Given the description of an element on the screen output the (x, y) to click on. 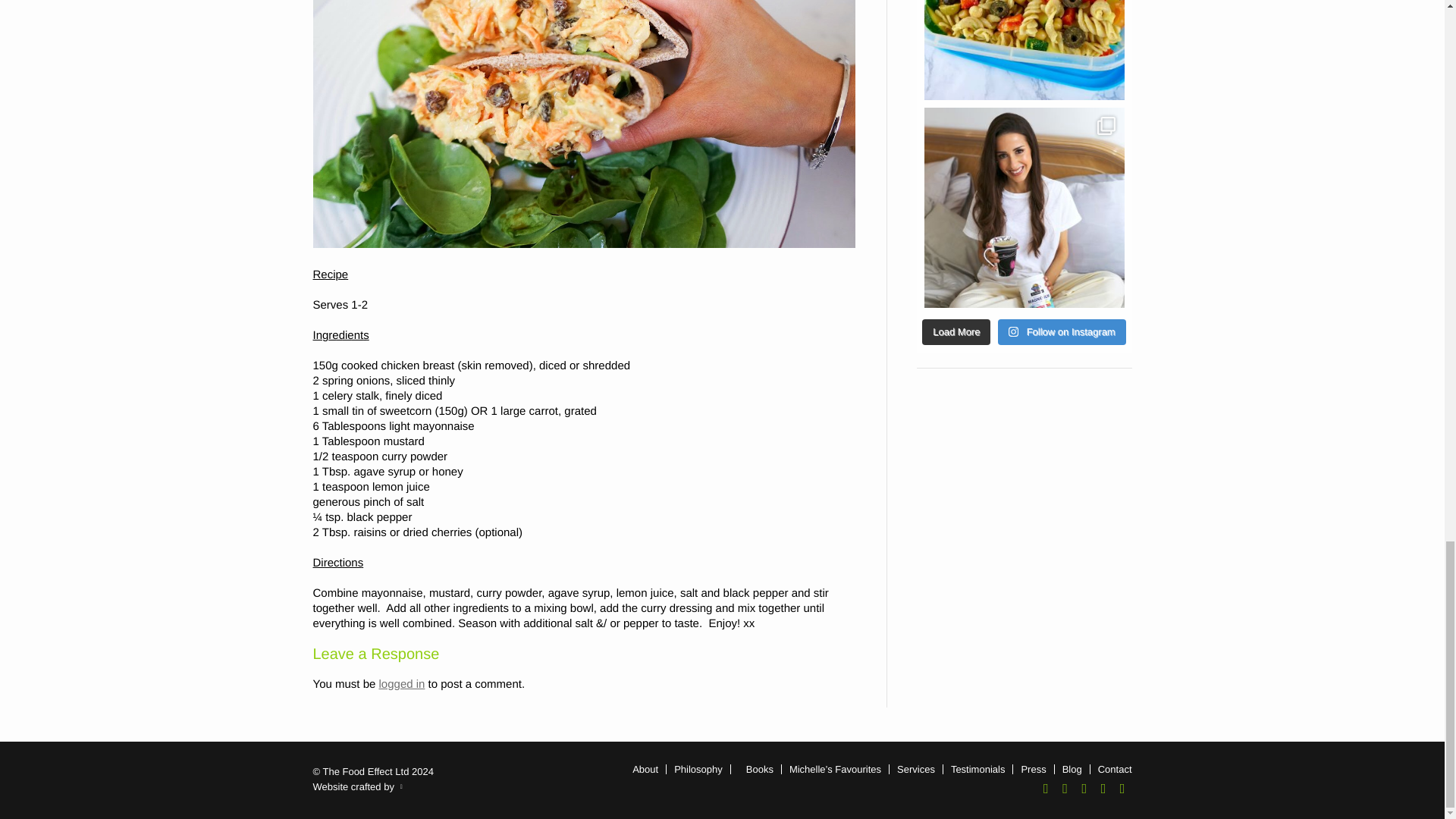
Load More (955, 331)
About (644, 768)
logged in (401, 684)
Blog (1071, 768)
Press (1032, 768)
Books (759, 768)
Services (915, 768)
Philosophy (698, 768)
Follow on Instagram (1061, 331)
Testimonials (978, 768)
